Given the description of an element on the screen output the (x, y) to click on. 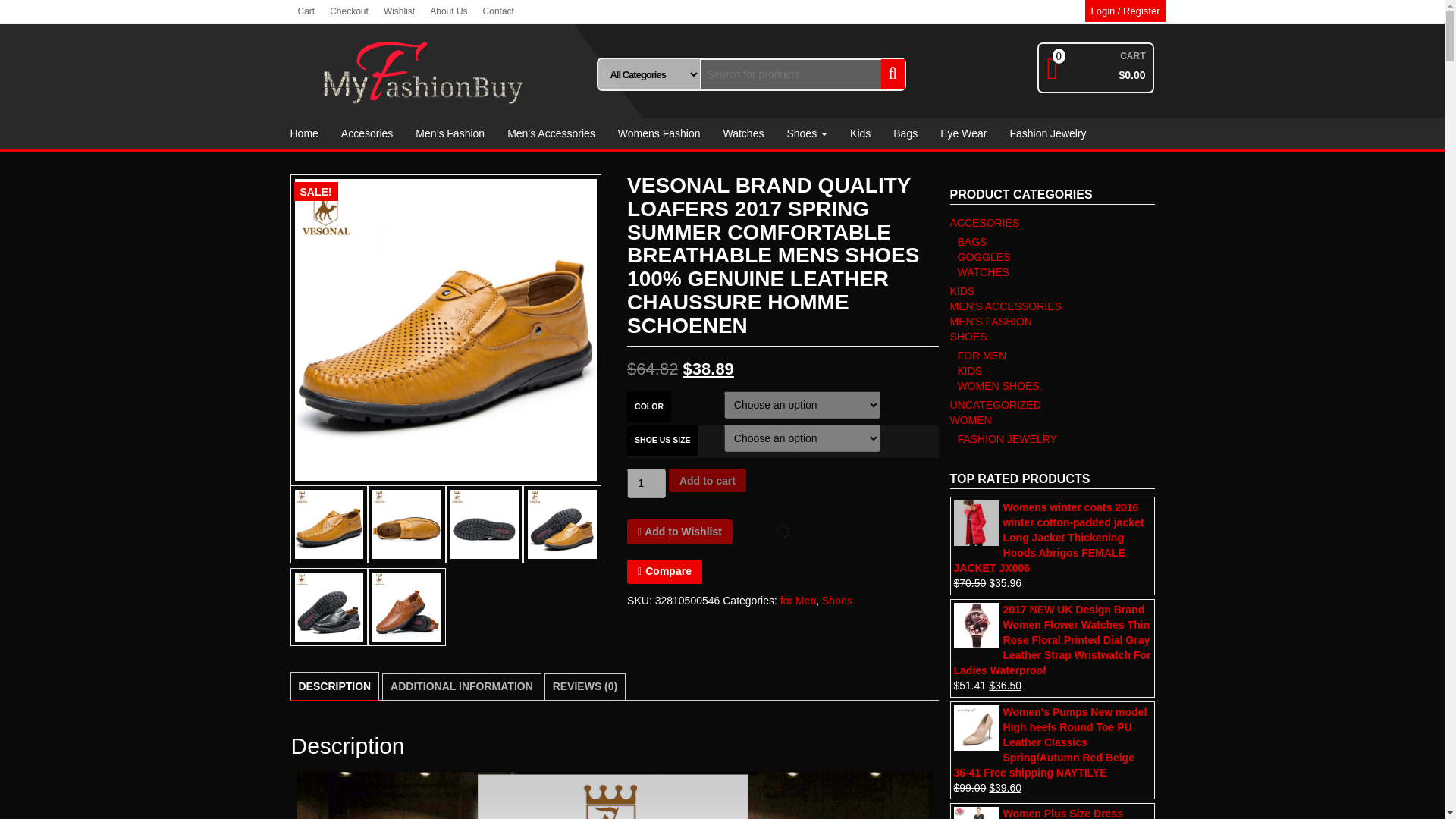
Add to cart (706, 480)
Contact (498, 11)
Checkout (348, 11)
Shoes (836, 600)
Accesories (367, 132)
for Men (797, 600)
Womens Fashion (659, 132)
Eye Wear (962, 132)
Cart (305, 11)
Men's Accessories (551, 132)
1 (646, 482)
Womens Fashion (659, 132)
Wishlist (398, 11)
Shoes (806, 132)
Bags (905, 132)
